Given the description of an element on the screen output the (x, y) to click on. 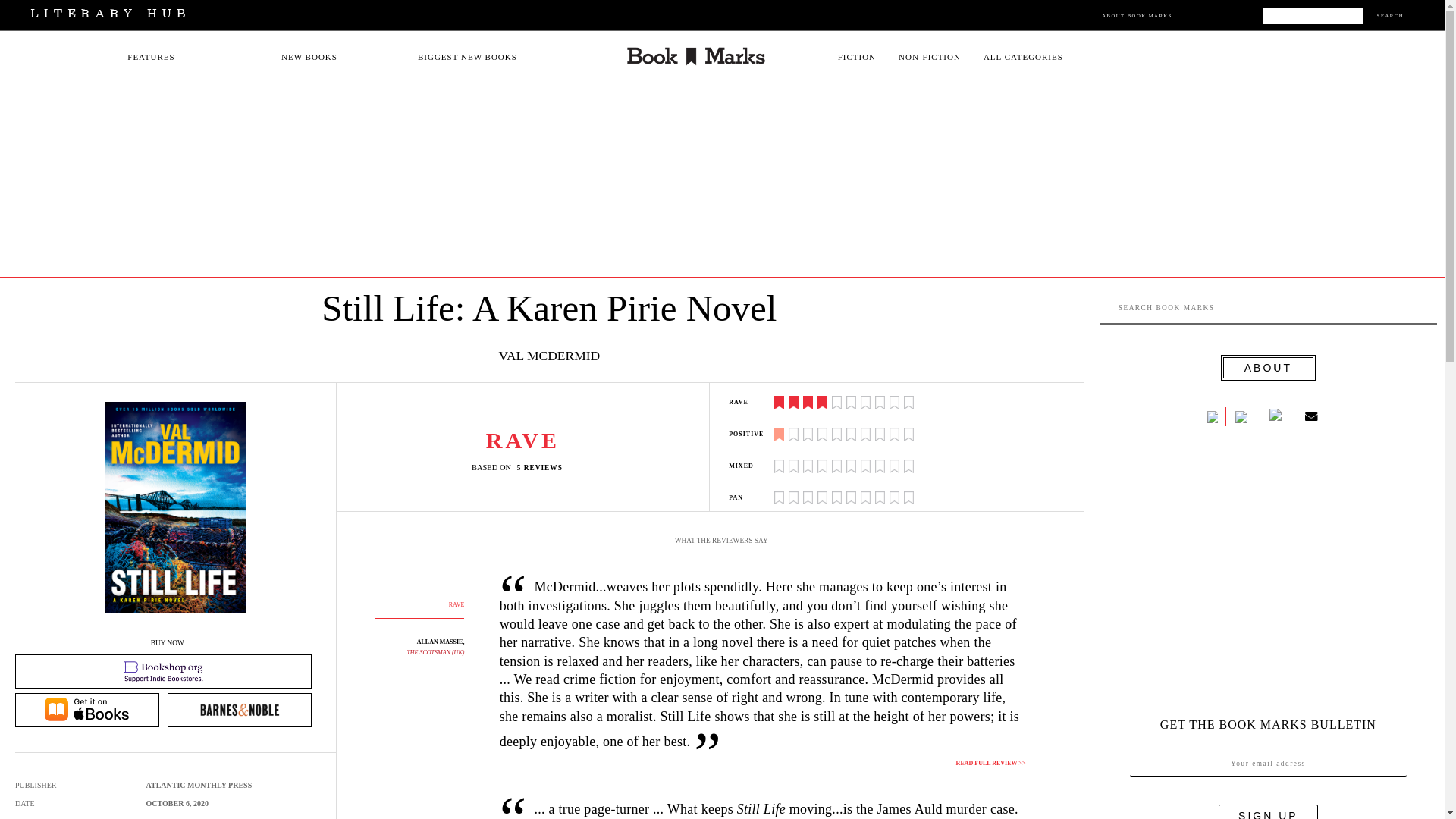
ABOUT BOOK MARKS (1137, 15)
Sign up (1267, 811)
FEATURES (151, 56)
ALL CATEGORIES (1023, 56)
FICTION (857, 56)
NON-FICTION (929, 56)
SEARCH (1390, 15)
